Given the description of an element on the screen output the (x, y) to click on. 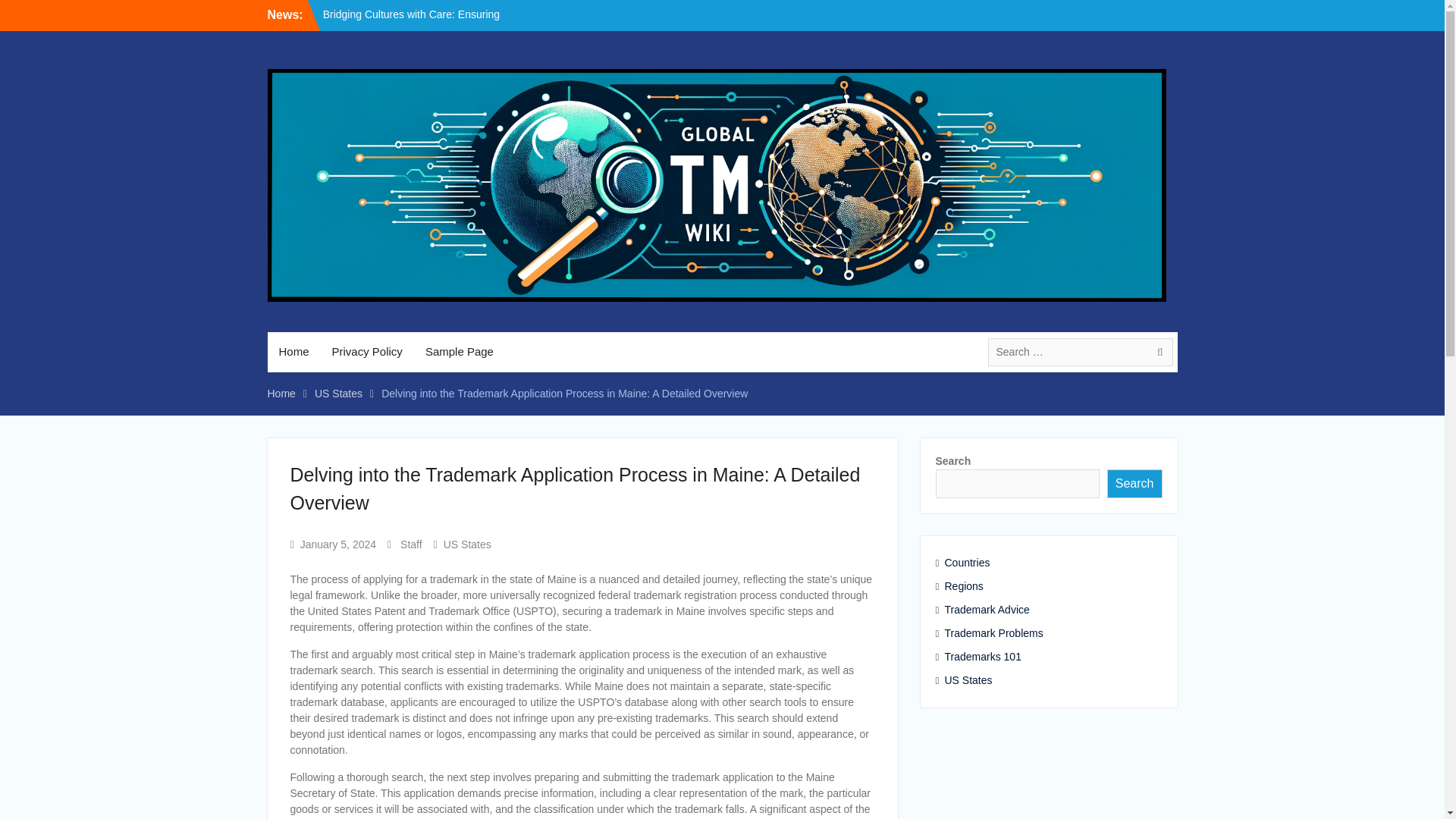
Home (293, 352)
Search (1133, 483)
Privacy Policy (366, 352)
Trademarks 101 (1036, 657)
US States (468, 544)
Staff (411, 544)
Regions (1036, 586)
US States (1036, 680)
Trademark Advice (1036, 609)
